Given the description of an element on the screen output the (x, y) to click on. 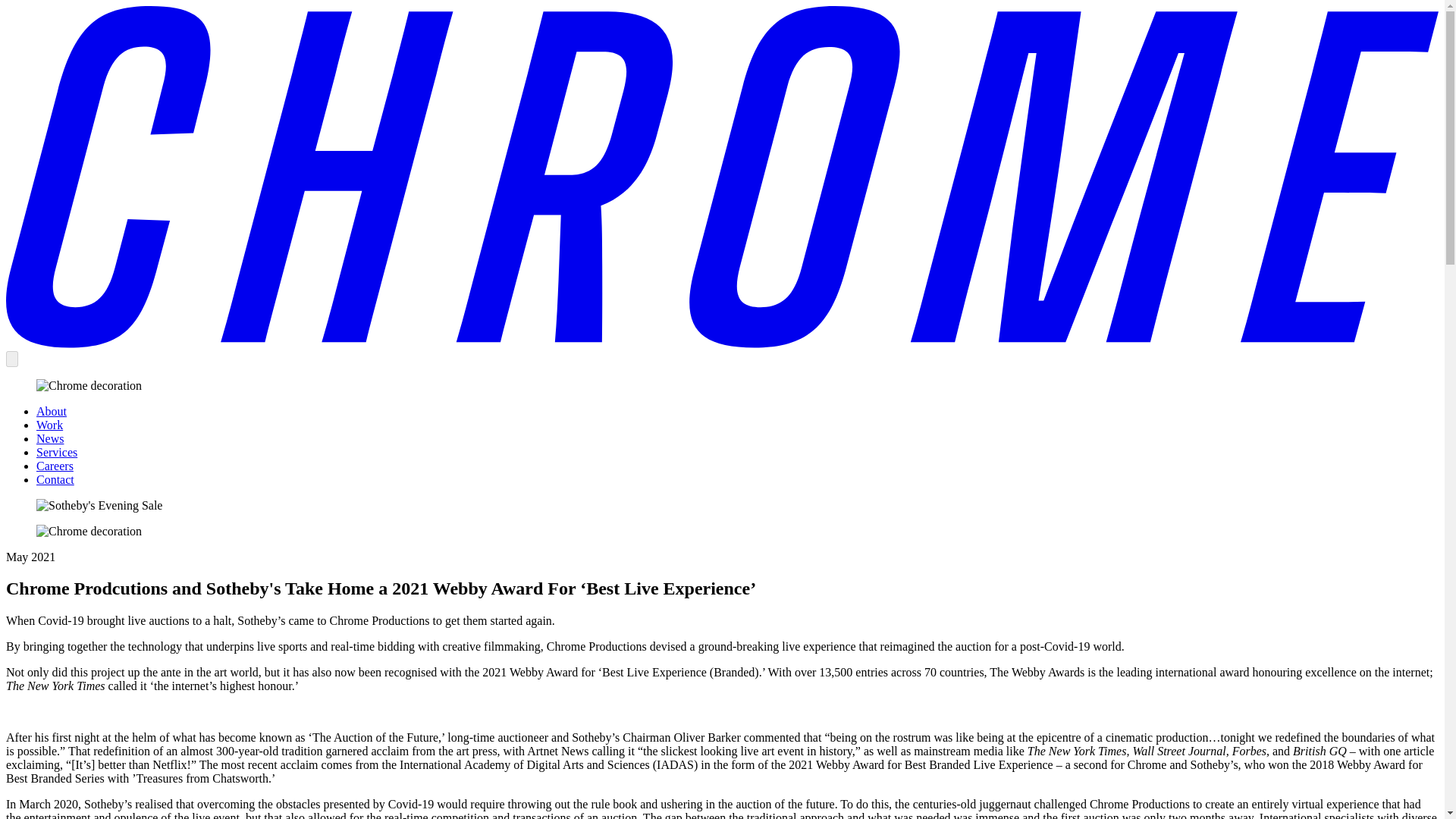
About (51, 410)
Work (49, 424)
Contact (55, 479)
Services (56, 451)
Careers (55, 465)
News (50, 438)
